Given the description of an element on the screen output the (x, y) to click on. 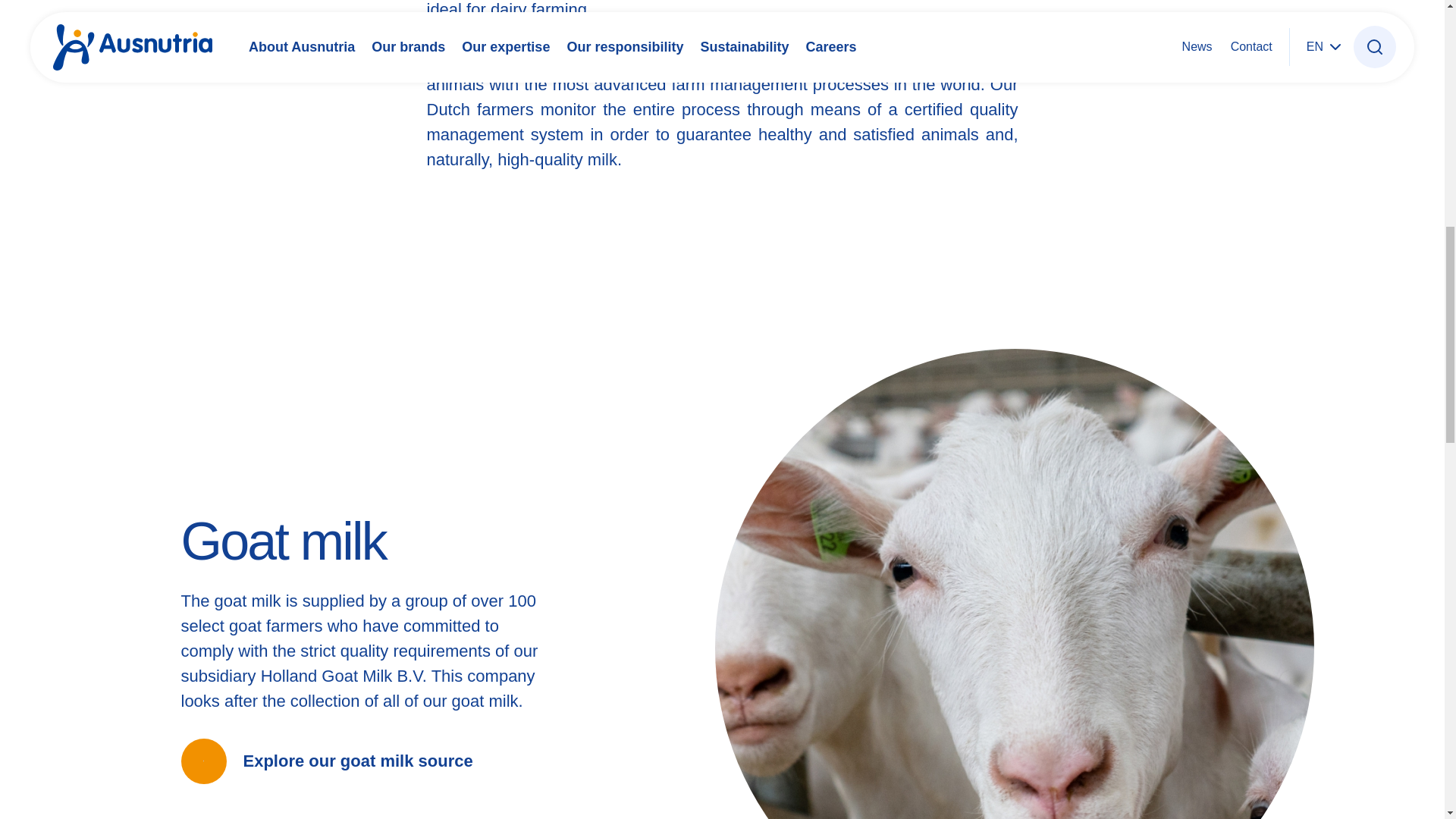
Explore our goat milk source (325, 760)
